Given the description of an element on the screen output the (x, y) to click on. 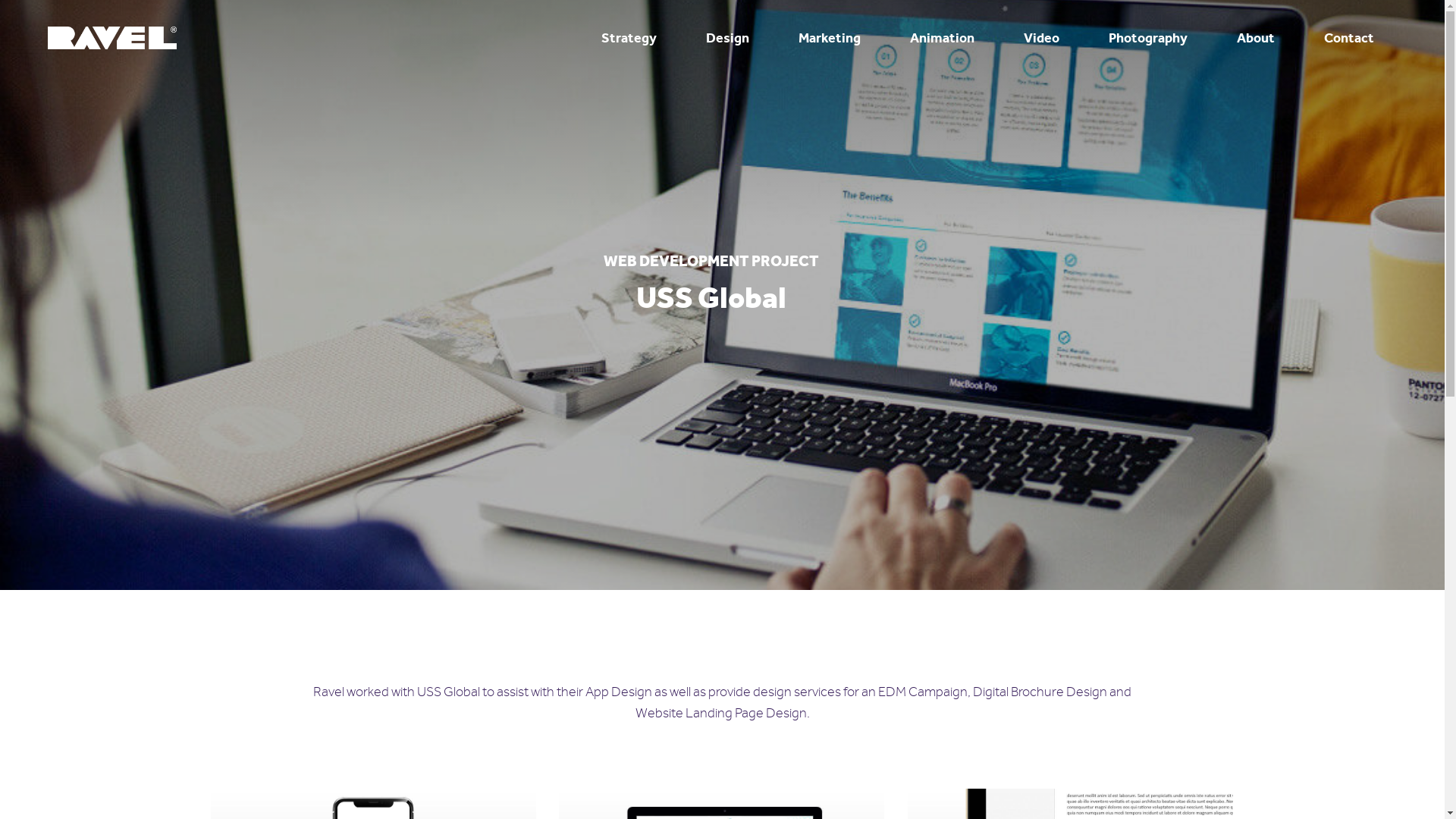
Strategy Element type: text (628, 38)
Animation Element type: text (942, 38)
Contact Element type: text (1349, 38)
About Element type: text (1255, 38)
Video Element type: text (1041, 38)
Marketing Element type: text (829, 38)
It's About The Journey Element type: hover (111, 37)
Photography Element type: text (1147, 38)
Design Element type: text (727, 38)
